Given the description of an element on the screen output the (x, y) to click on. 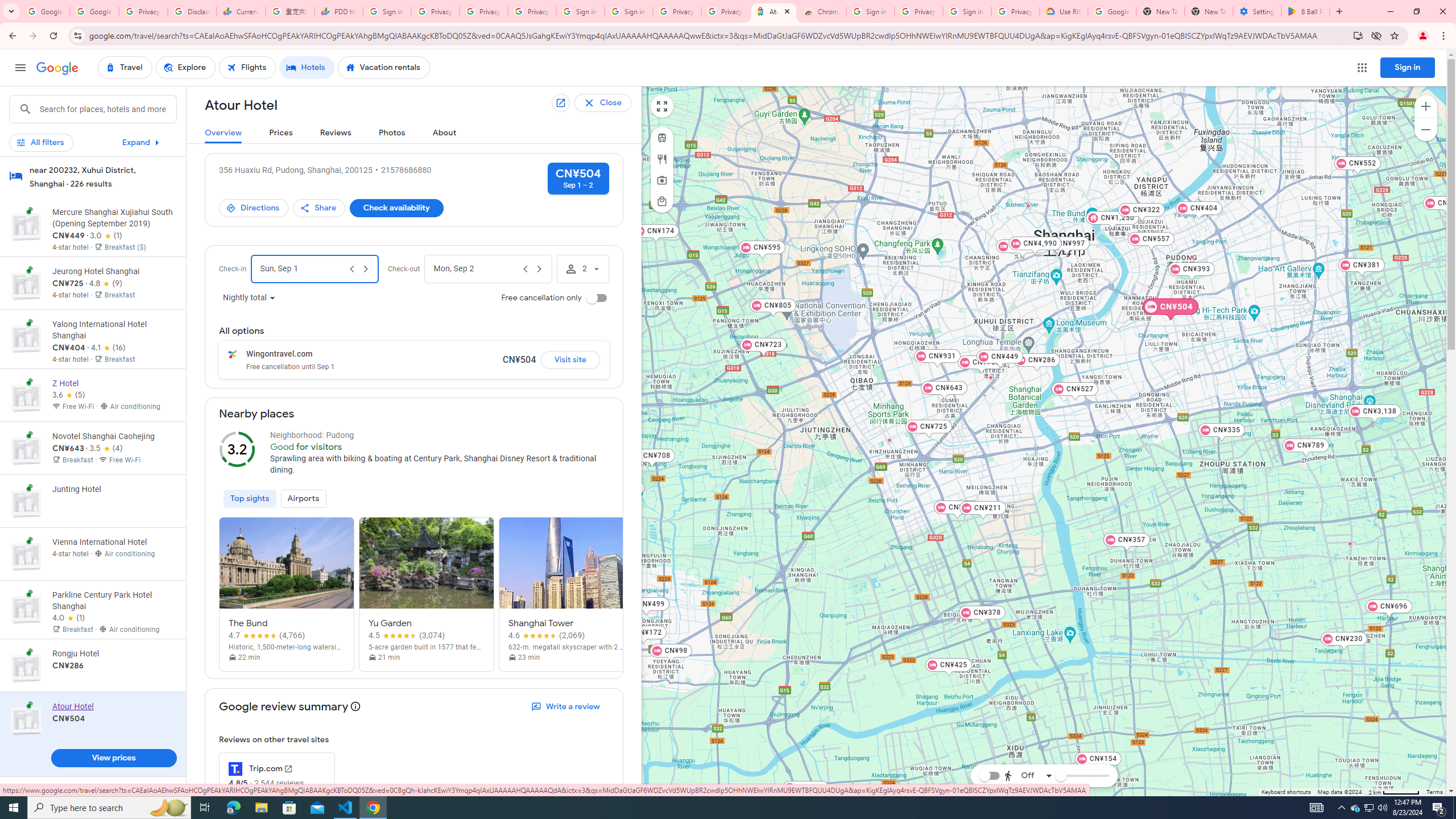
Open Atour Hotel in a new tab. (561, 103)
Price displayedNightly total (248, 298)
View prices for Junting Hotel (113, 540)
Back to list of all results (612, 103)
4.8 out of 5 stars from 9 reviews (105, 283)
Install Trips all in one place (1358, 35)
Hanting Premium Hotel Shanghai Xinzhuang Business (888, 439)
All filters (40, 142)
Reachability slider (1060, 775)
